Given the description of an element on the screen output the (x, y) to click on. 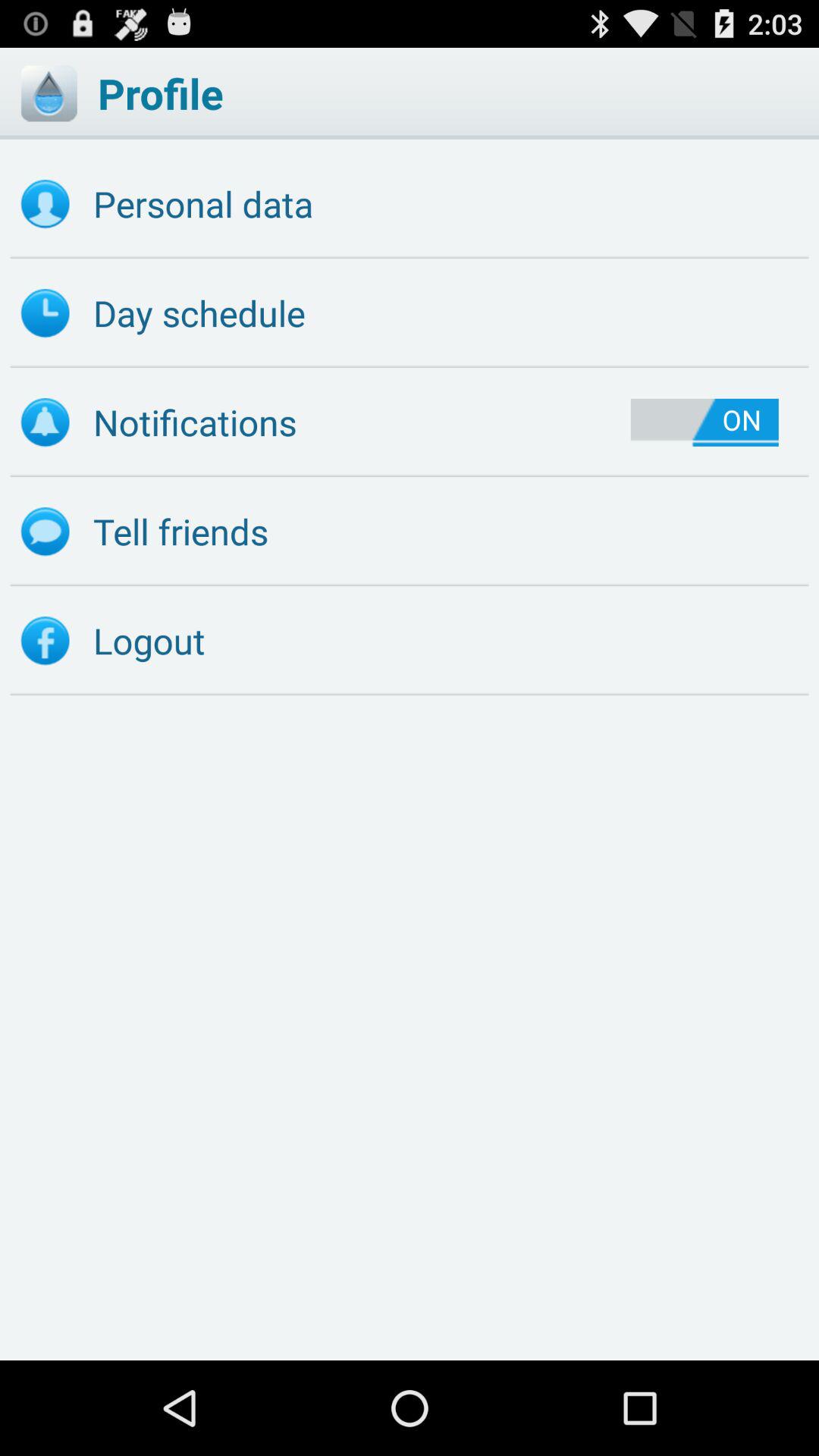
select the icon to the right of the notifications (704, 422)
